Given the description of an element on the screen output the (x, y) to click on. 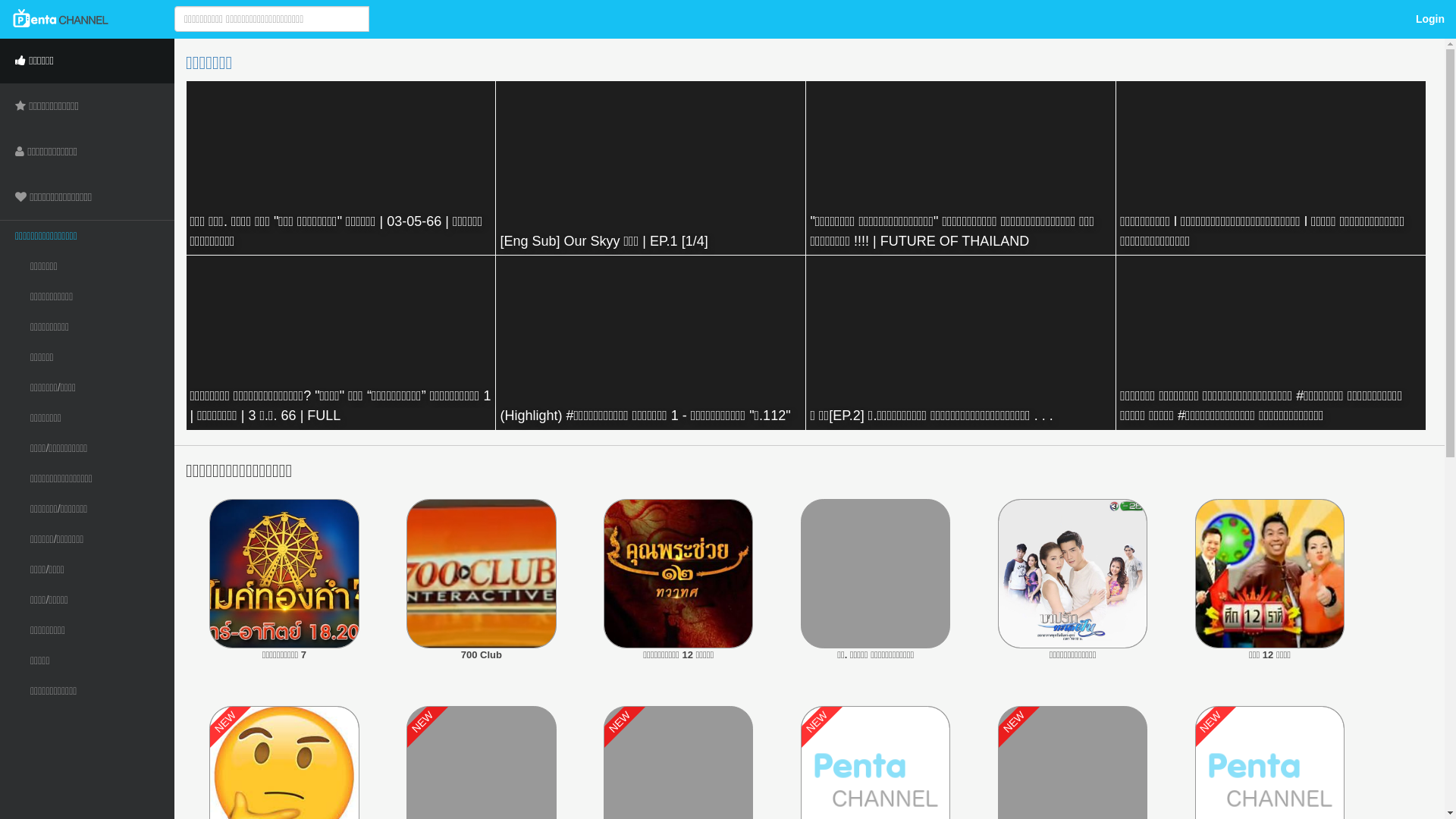
700 Club Element type: text (480, 666)
Login Element type: text (1429, 18)
  Element type: text (331, 18)
